Given the description of an element on the screen output the (x, y) to click on. 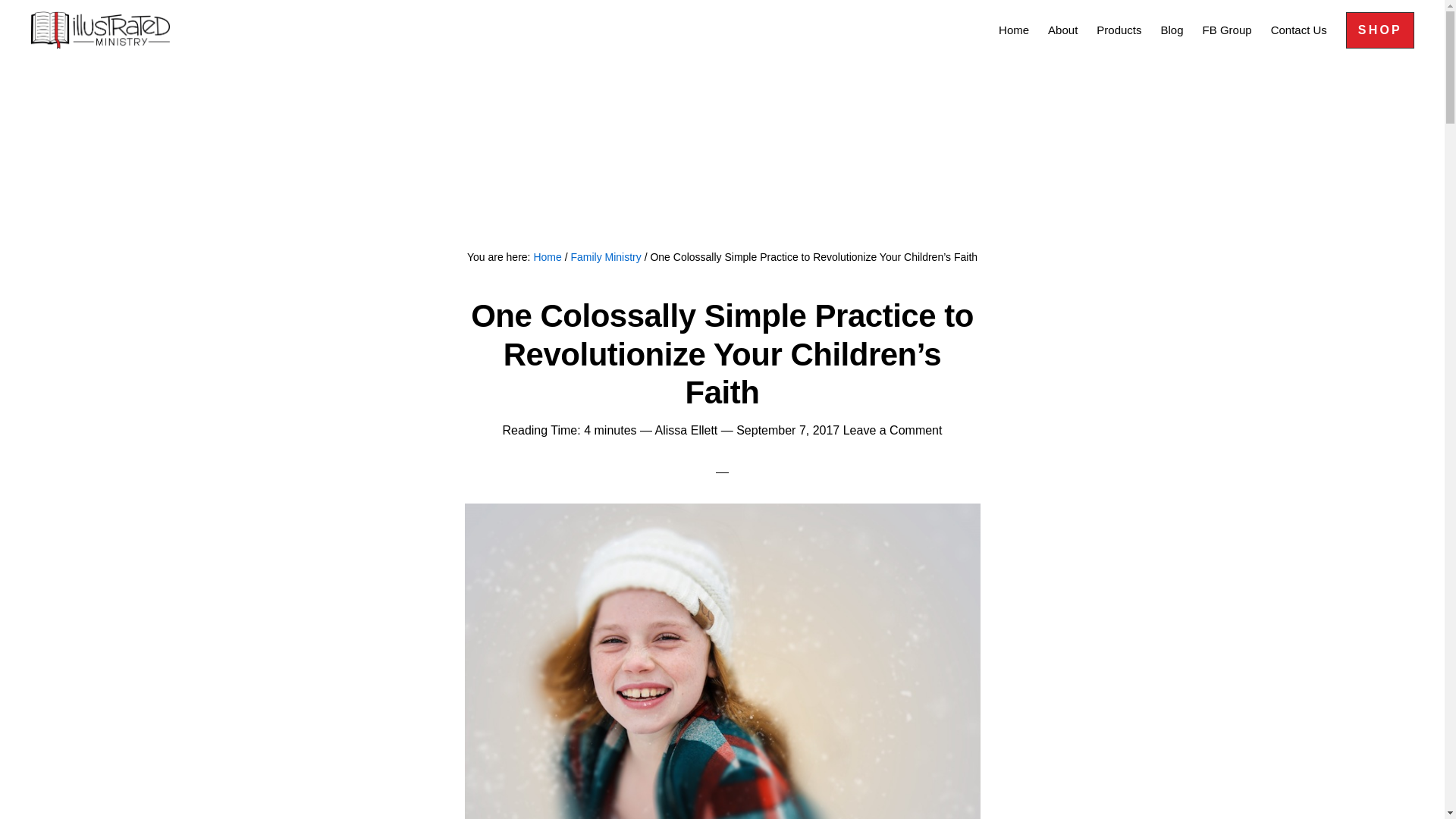
Alissa Ellett (686, 430)
SHOP (1379, 30)
Blog (1172, 29)
FB Group (1227, 29)
Products (1118, 29)
About (1062, 29)
Family Ministry (605, 256)
Home (546, 256)
Leave a Comment (892, 430)
Contact Us (1299, 29)
Home (1013, 29)
